Given the description of an element on the screen output the (x, y) to click on. 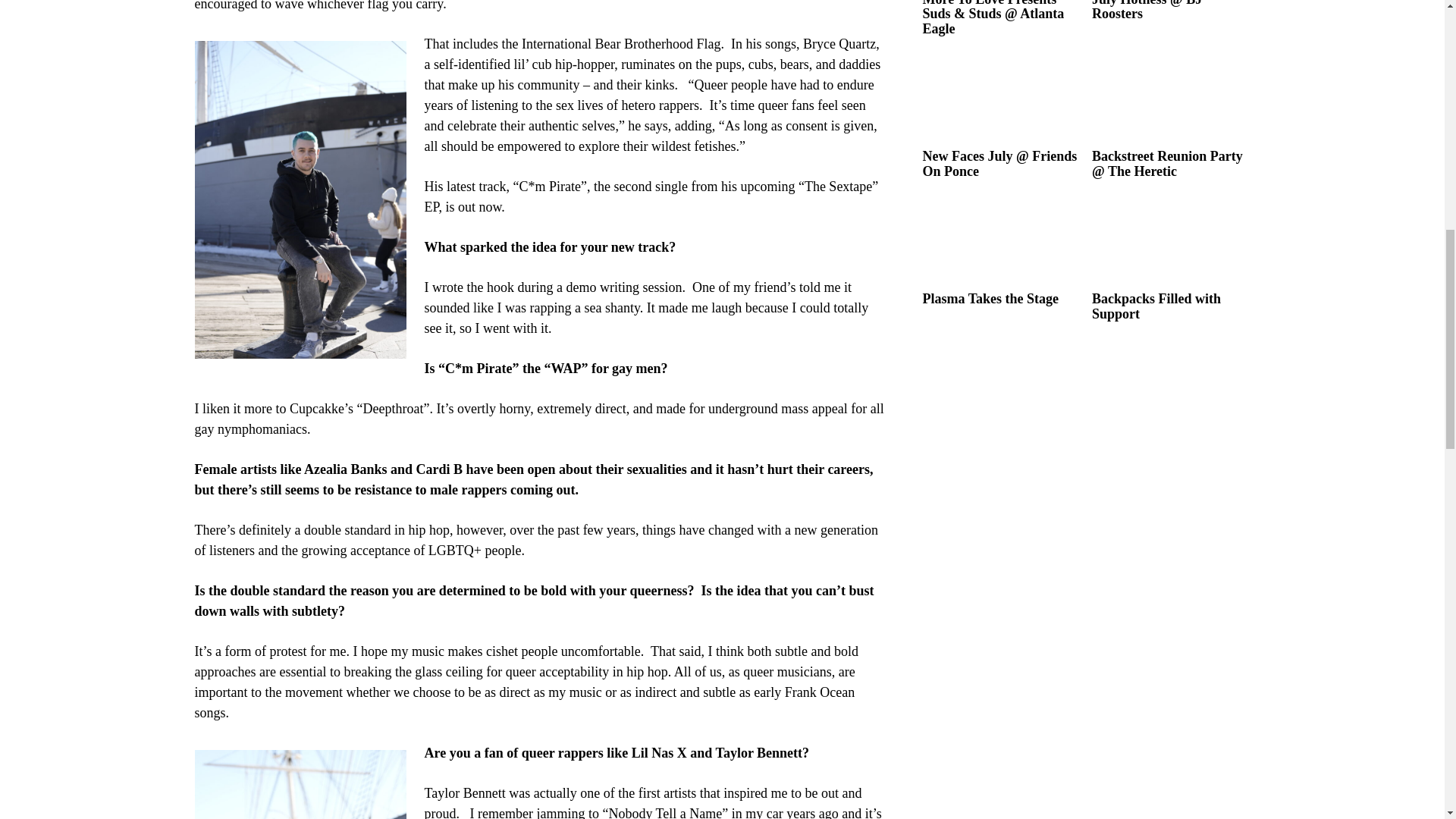
Plasma Takes the Stage (1000, 242)
